Given the description of an element on the screen output the (x, y) to click on. 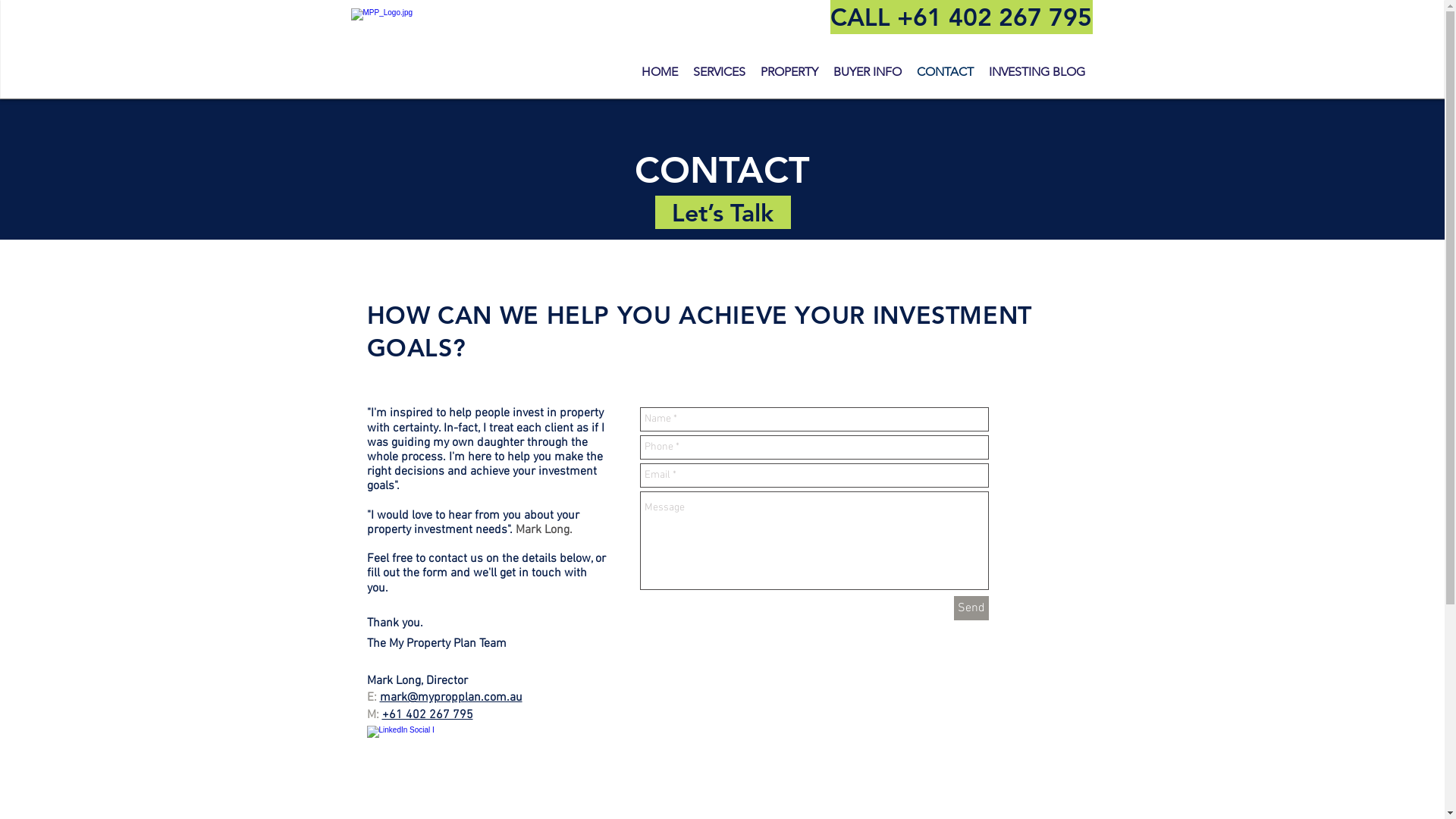
CALL +61 402 267 795 Element type: text (960, 17)
+61 402 267 795 Element type: text (427, 714)
BUYER INFO Element type: text (866, 71)
INVESTING BLOG Element type: text (1036, 71)
HOME Element type: text (659, 71)
SERVICES Element type: text (719, 71)
CONTACT Element type: text (944, 71)
PROPERTY Element type: text (788, 71)
mark@mypropplan.com.au Element type: text (450, 697)
Send Element type: text (970, 608)
